Given the description of an element on the screen output the (x, y) to click on. 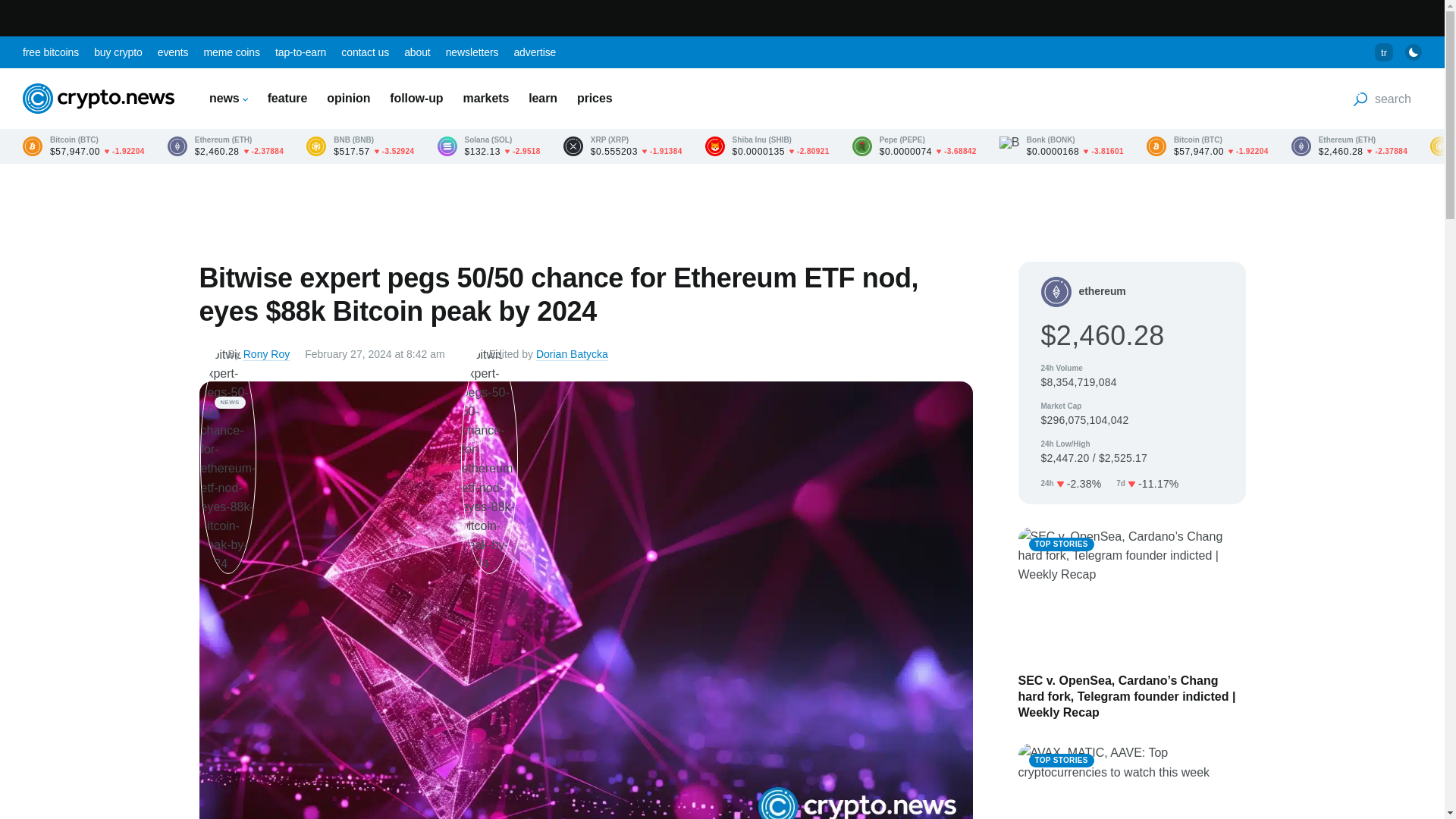
Solana price (488, 145)
learn (542, 97)
buy crypto (118, 51)
tr (1383, 52)
contact us (364, 51)
Ethereum price (225, 145)
markets (486, 97)
search (1382, 98)
feature (287, 97)
prices (594, 97)
